Given the description of an element on the screen output the (x, y) to click on. 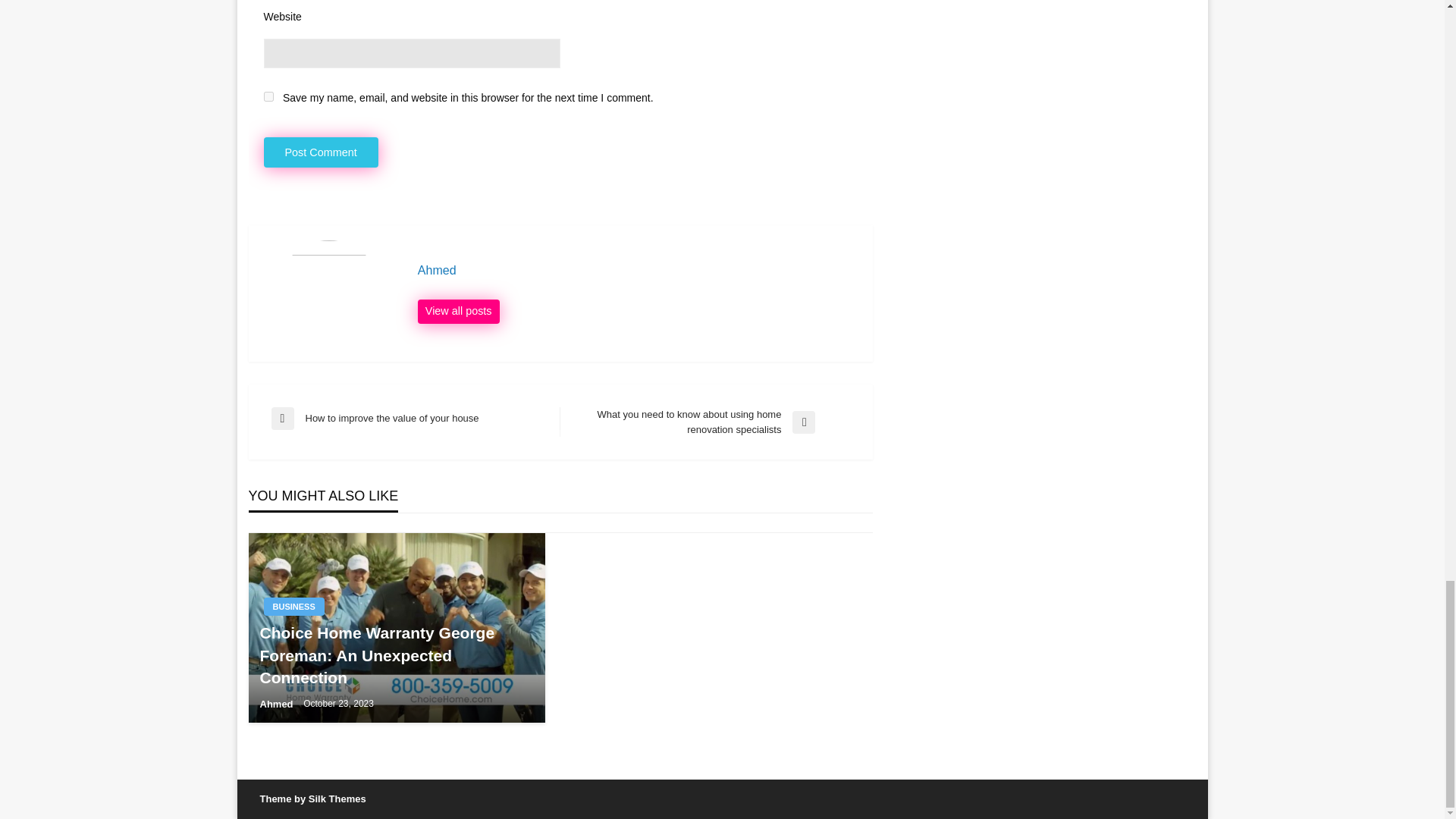
Ahmed (277, 704)
Ahmed (637, 270)
Ahmed (637, 270)
Ahmed (458, 311)
View all posts (458, 311)
yes (268, 96)
Post Comment (320, 152)
BUSINESS (293, 606)
Post Comment (320, 152)
